Given the description of an element on the screen output the (x, y) to click on. 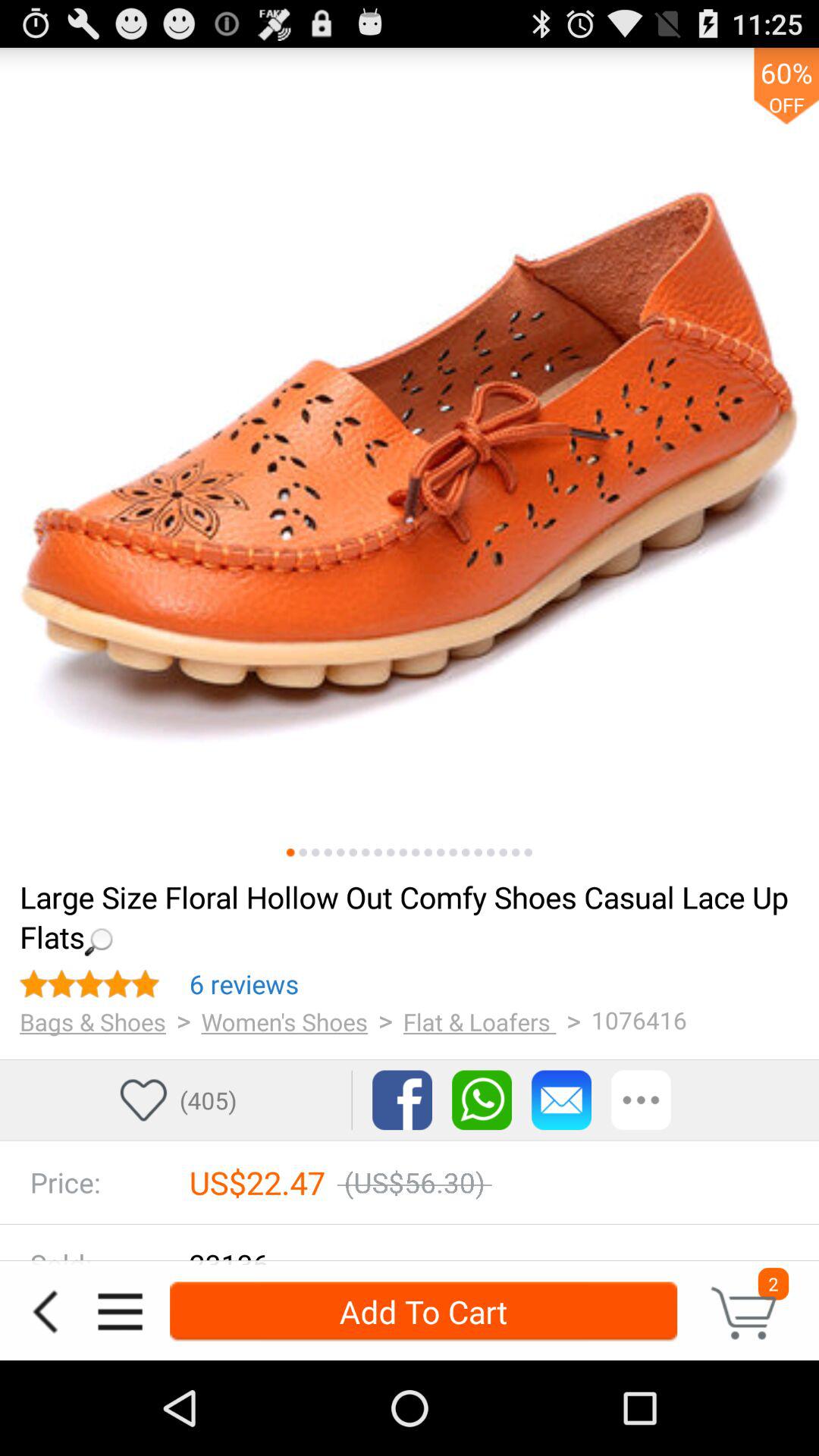
click to see other photos (390, 852)
